Given the description of an element on the screen output the (x, y) to click on. 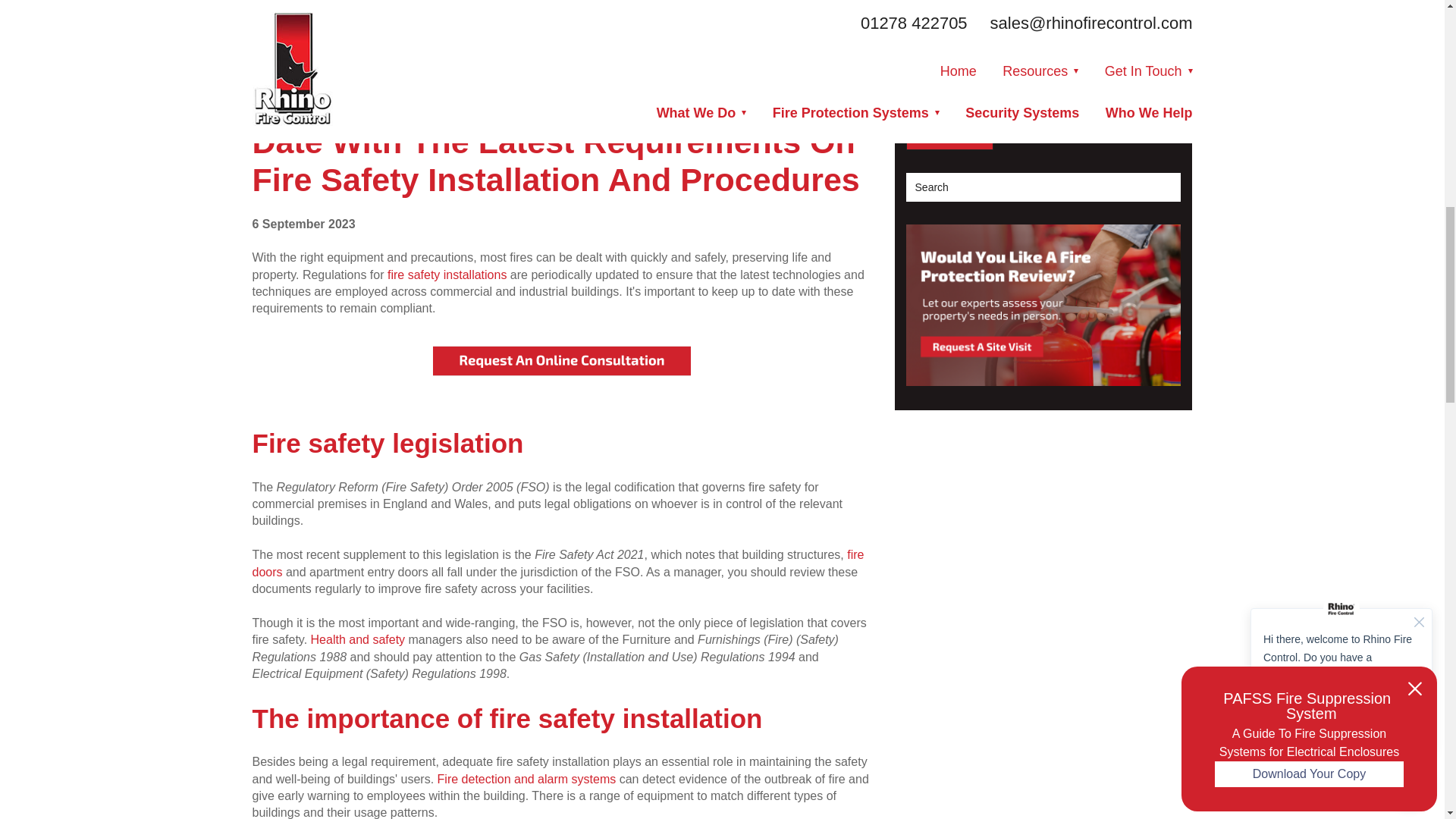
fire doors (557, 562)
fire safety installations (446, 274)
Health and safety (360, 639)
Fire detection and alarm systems (526, 779)
Subscribe (948, 130)
